Given the description of an element on the screen output the (x, y) to click on. 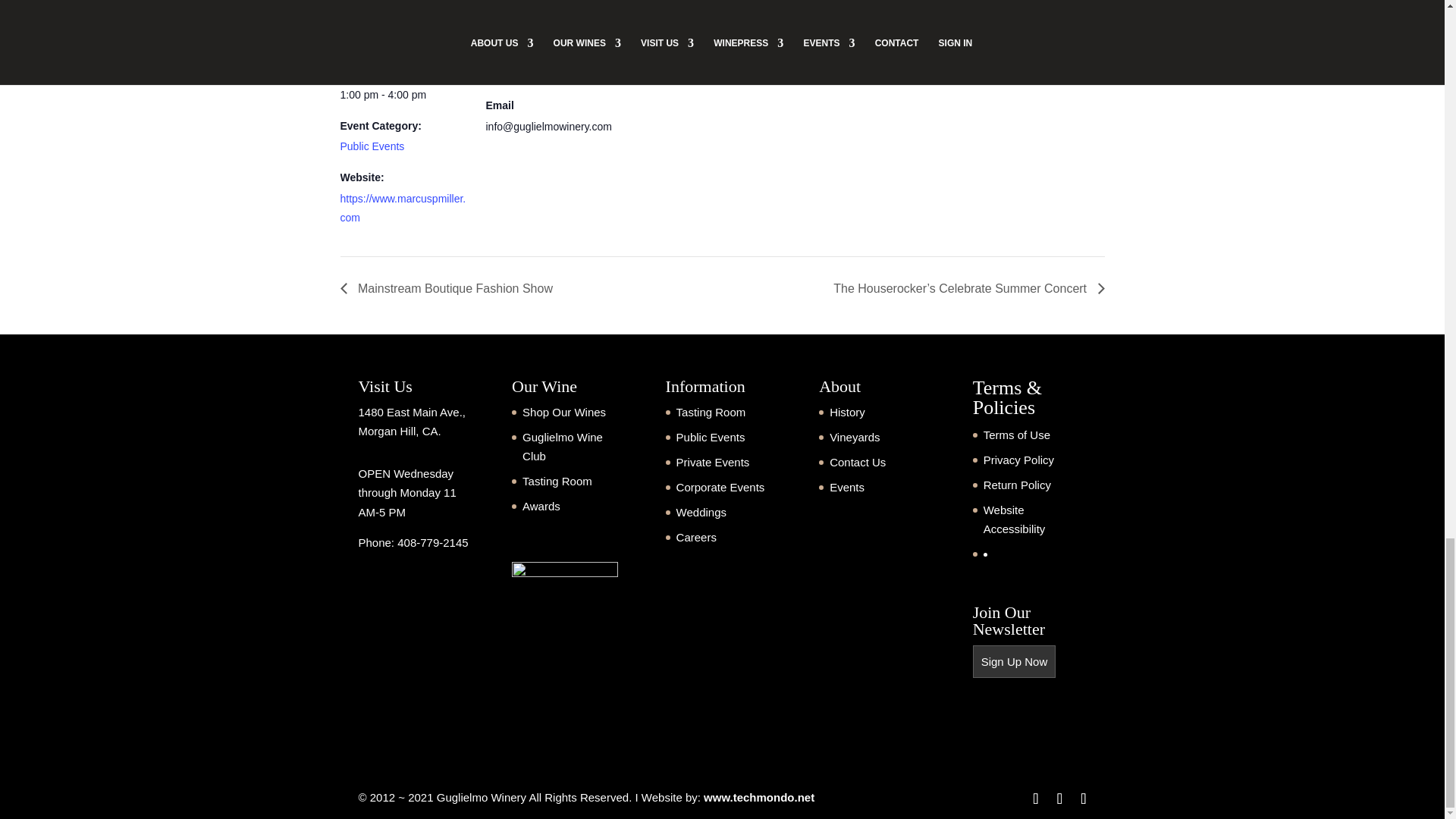
2024-05-26 (403, 95)
Mainstream Boutique Fashion Show (449, 287)
2024-05-26 (356, 42)
Public Events (371, 146)
